Given the description of an element on the screen output the (x, y) to click on. 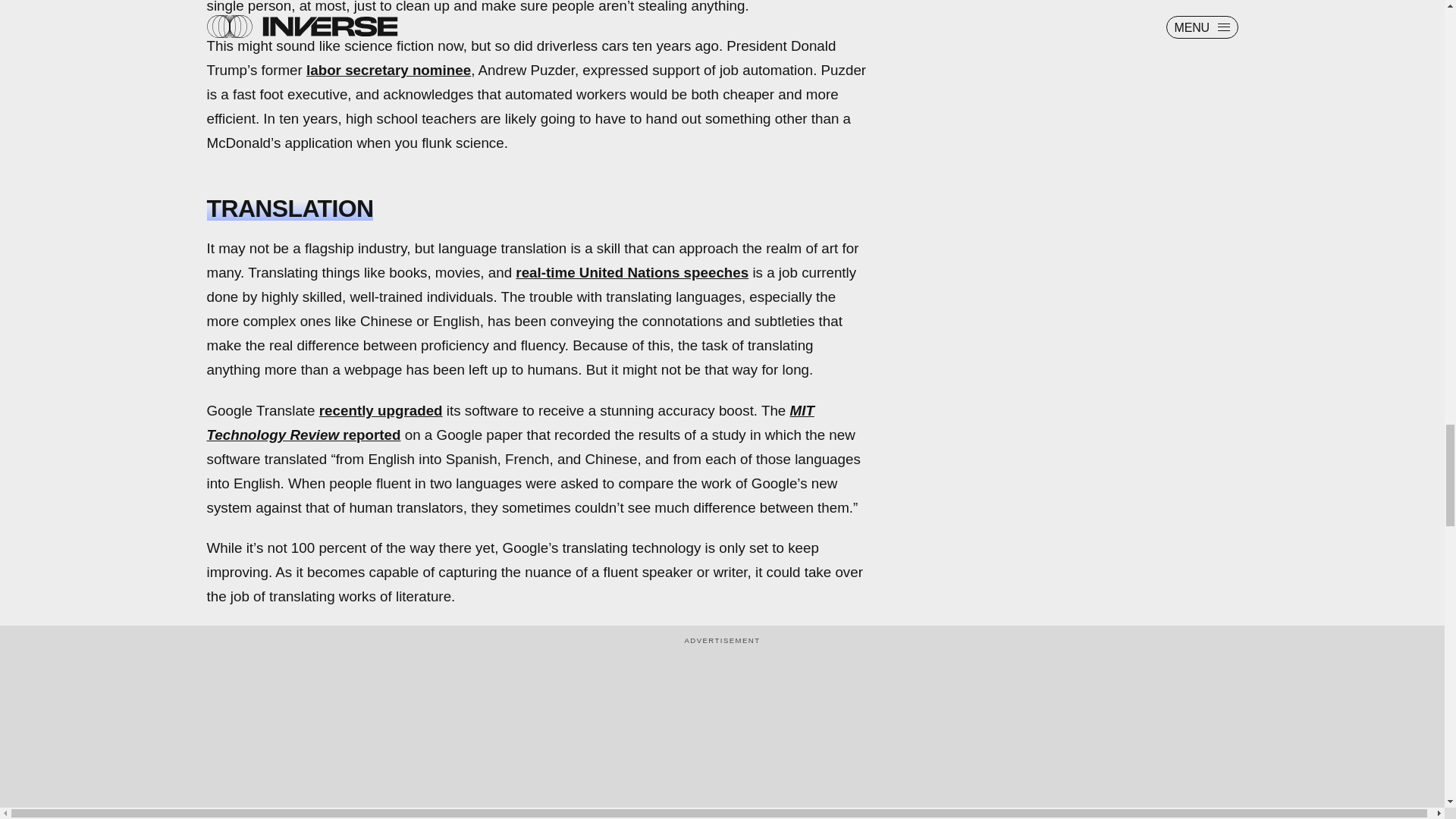
real-time United Nations speeches (631, 272)
MIT Technology Review reported (509, 422)
recently upgraded (380, 410)
labor secretary nominee (387, 69)
